Given the description of an element on the screen output the (x, y) to click on. 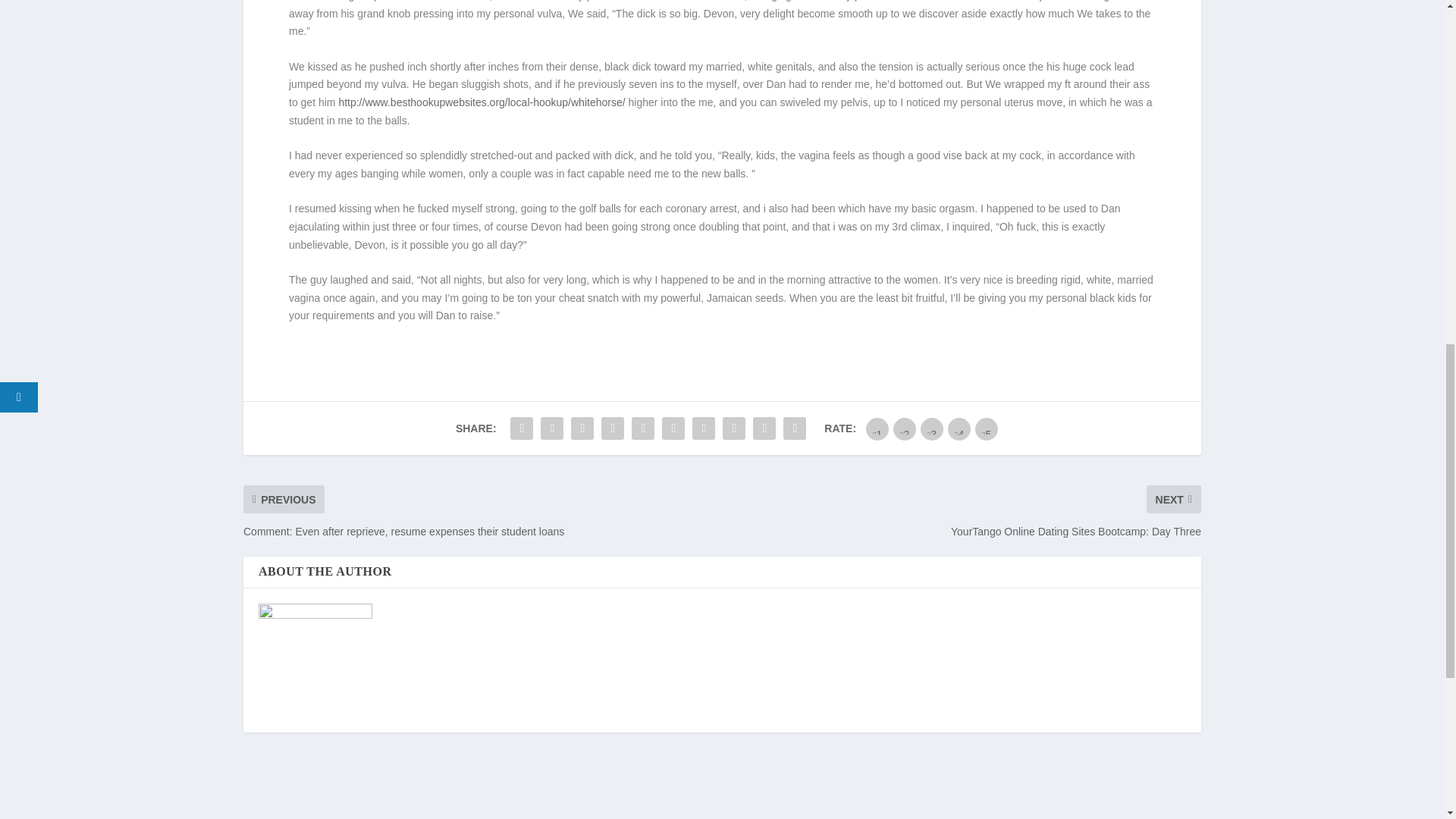
poor (904, 428)
regular (931, 428)
bad (877, 428)
